Given the description of an element on the screen output the (x, y) to click on. 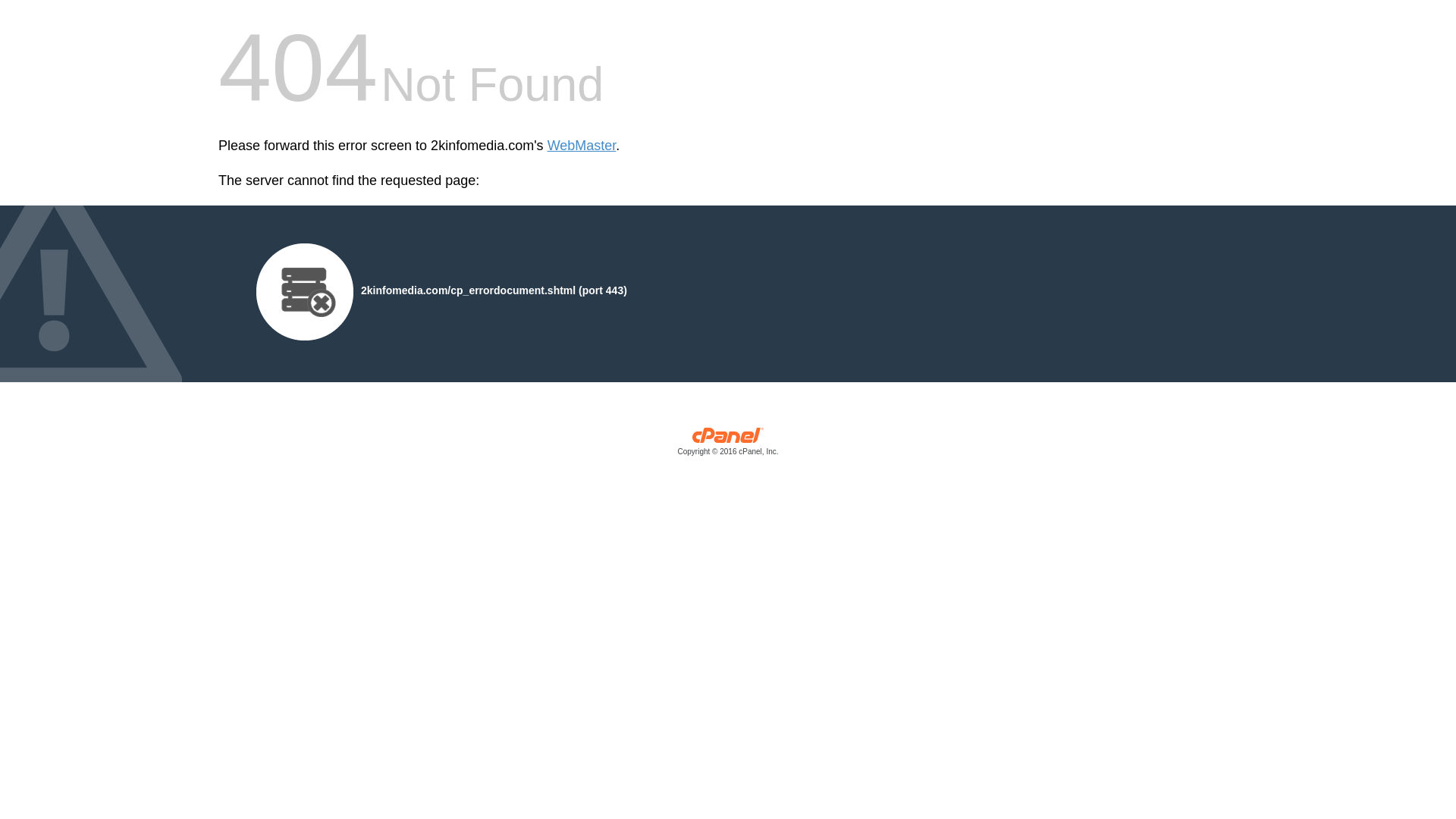
WebMaster Element type: text (581, 145)
